Given the description of an element on the screen output the (x, y) to click on. 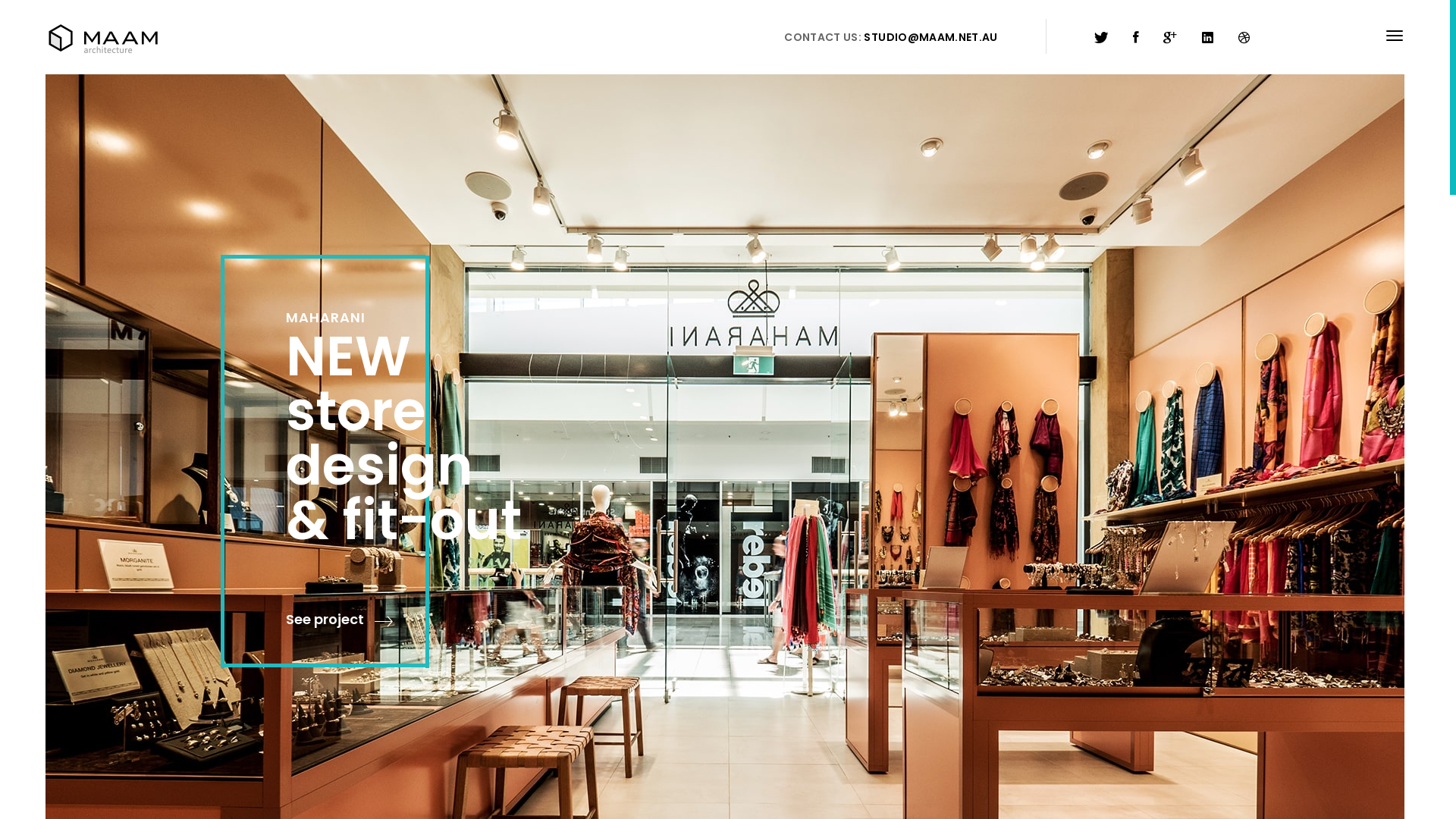
See project Element type: text (338, 620)
